Given the description of an element on the screen output the (x, y) to click on. 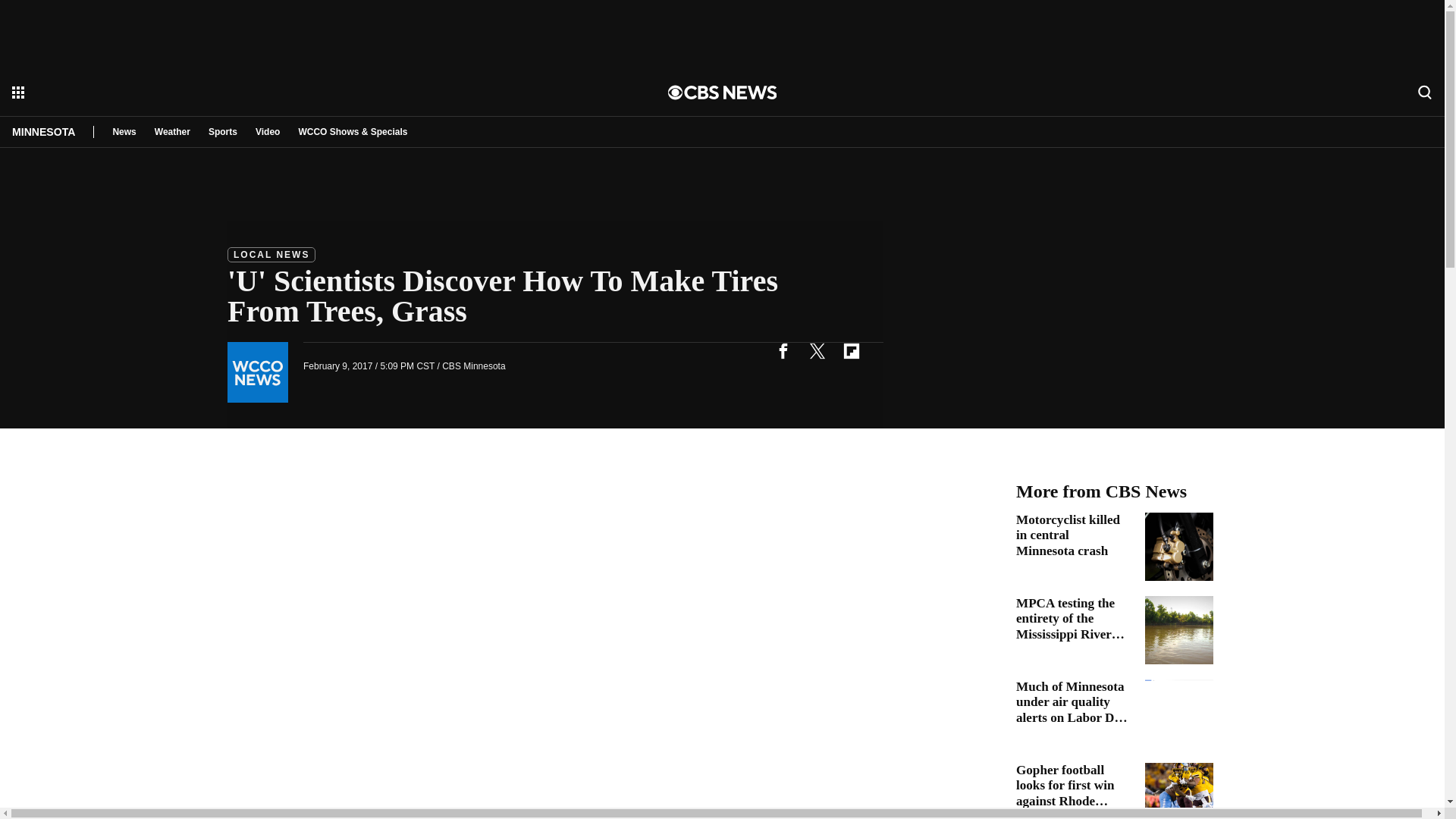
twitter (816, 350)
facebook (782, 350)
flipboard (850, 350)
